Given the description of an element on the screen output the (x, y) to click on. 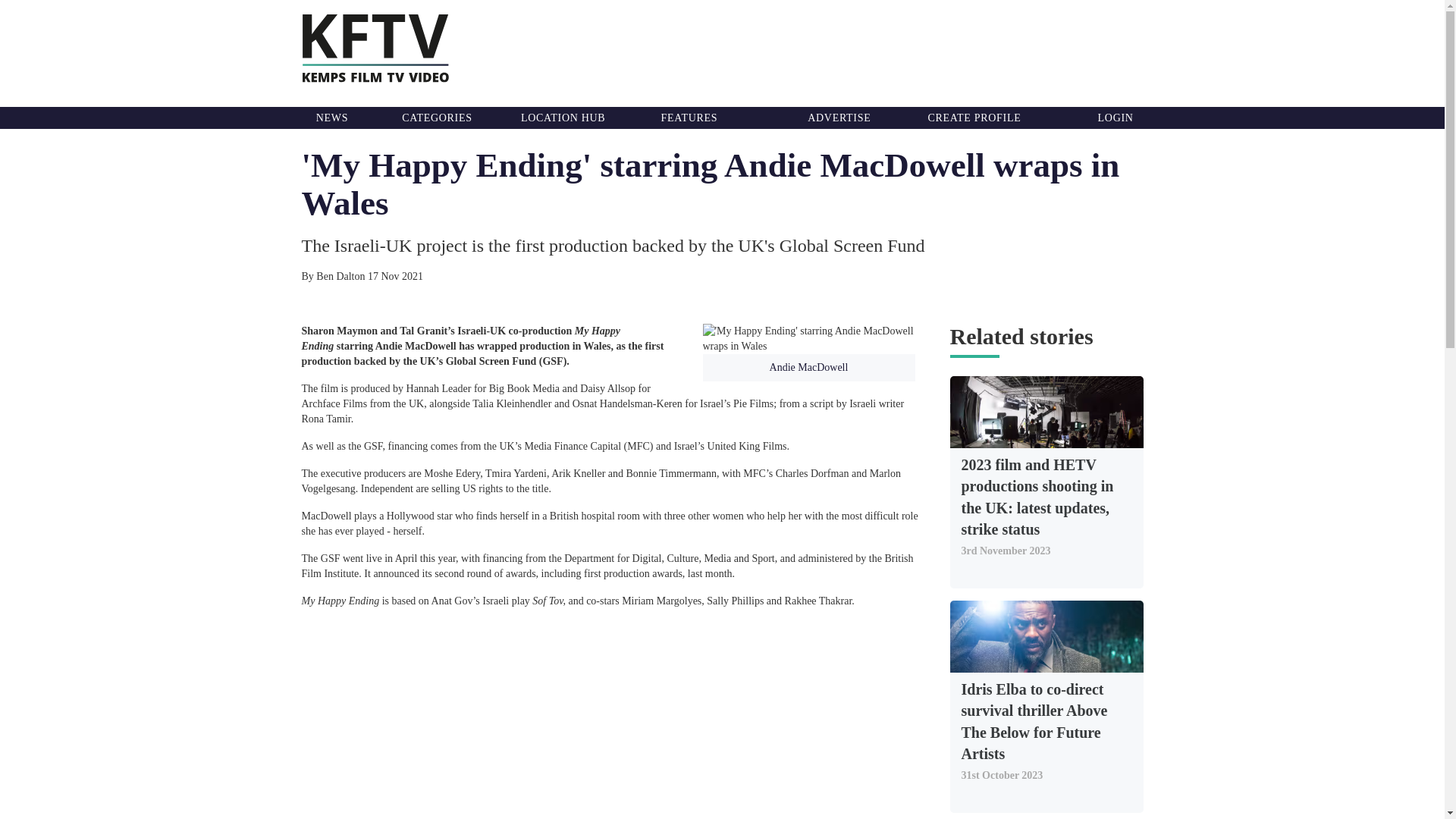
CREATE PROFILE (973, 117)
FEATURES (689, 117)
LOCATION HUB (563, 117)
CATEGORIES (436, 117)
LOGIN (1115, 117)
NEWS (331, 117)
ADVERTISE (839, 117)
